Given the description of an element on the screen output the (x, y) to click on. 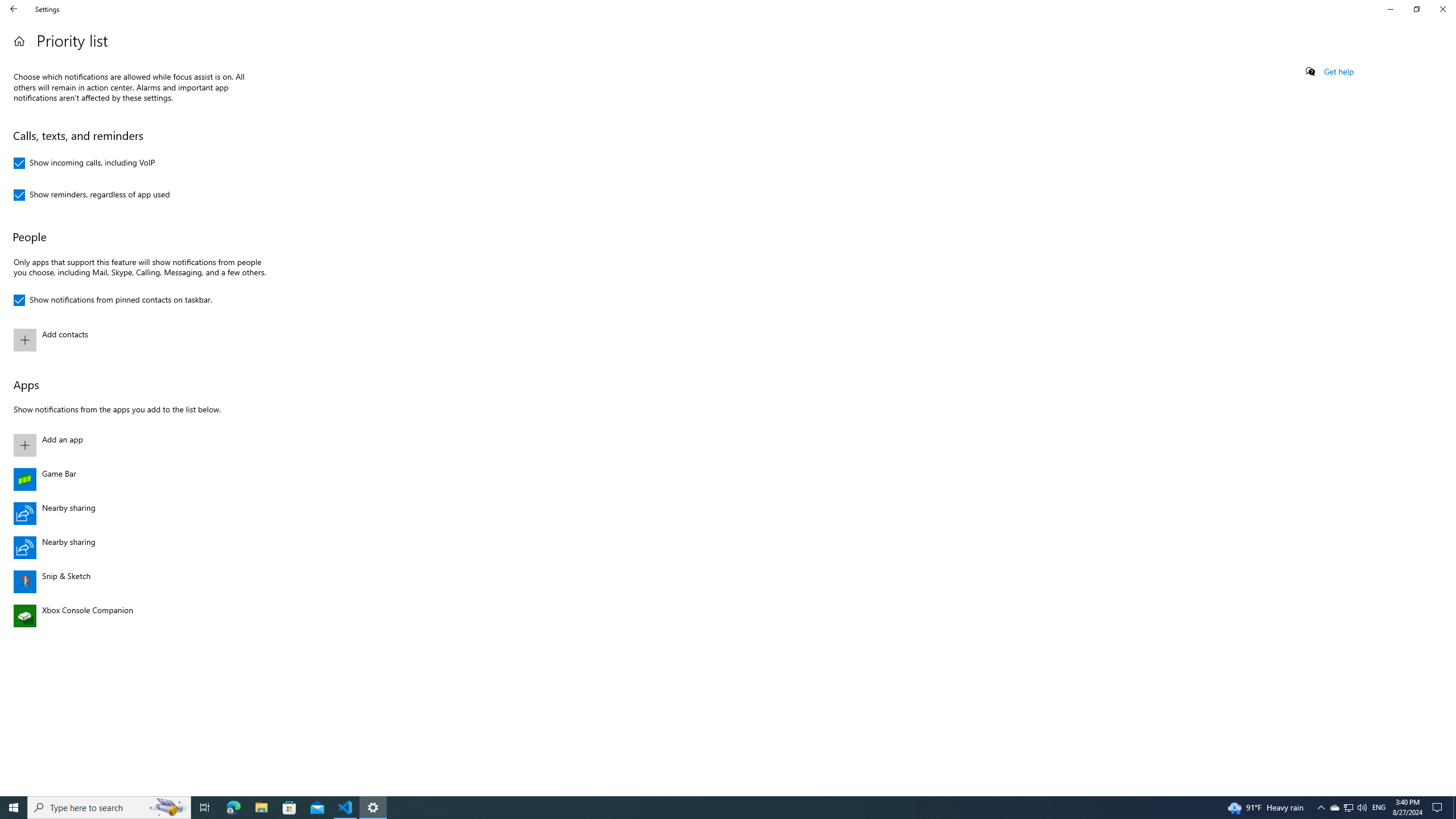
Nearby sharing (137, 547)
Type here to search (108, 807)
Restore Settings (1416, 9)
Start (13, 807)
Search highlights icon opens search home window (1347, 807)
